Given the description of an element on the screen output the (x, y) to click on. 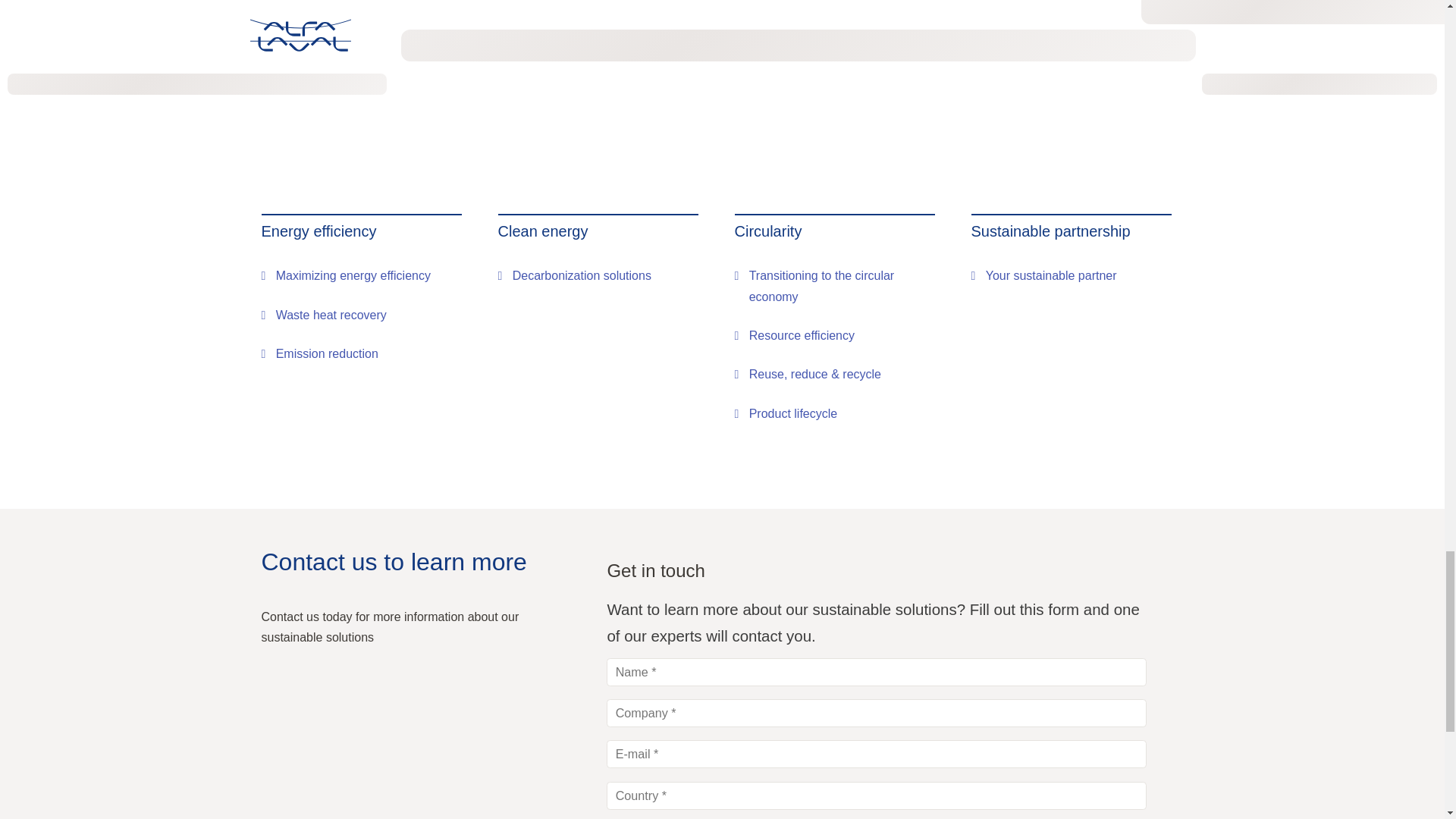
Your sustainable partner (1043, 275)
Transitioning to the circular economy (839, 286)
Product lifecycle (785, 413)
Decarbonization solutions (573, 275)
Emission reduction (318, 353)
Maximizing energy efficiency (344, 275)
Waste heat recovery (322, 314)
Resource efficiency (793, 335)
